Given the description of an element on the screen output the (x, y) to click on. 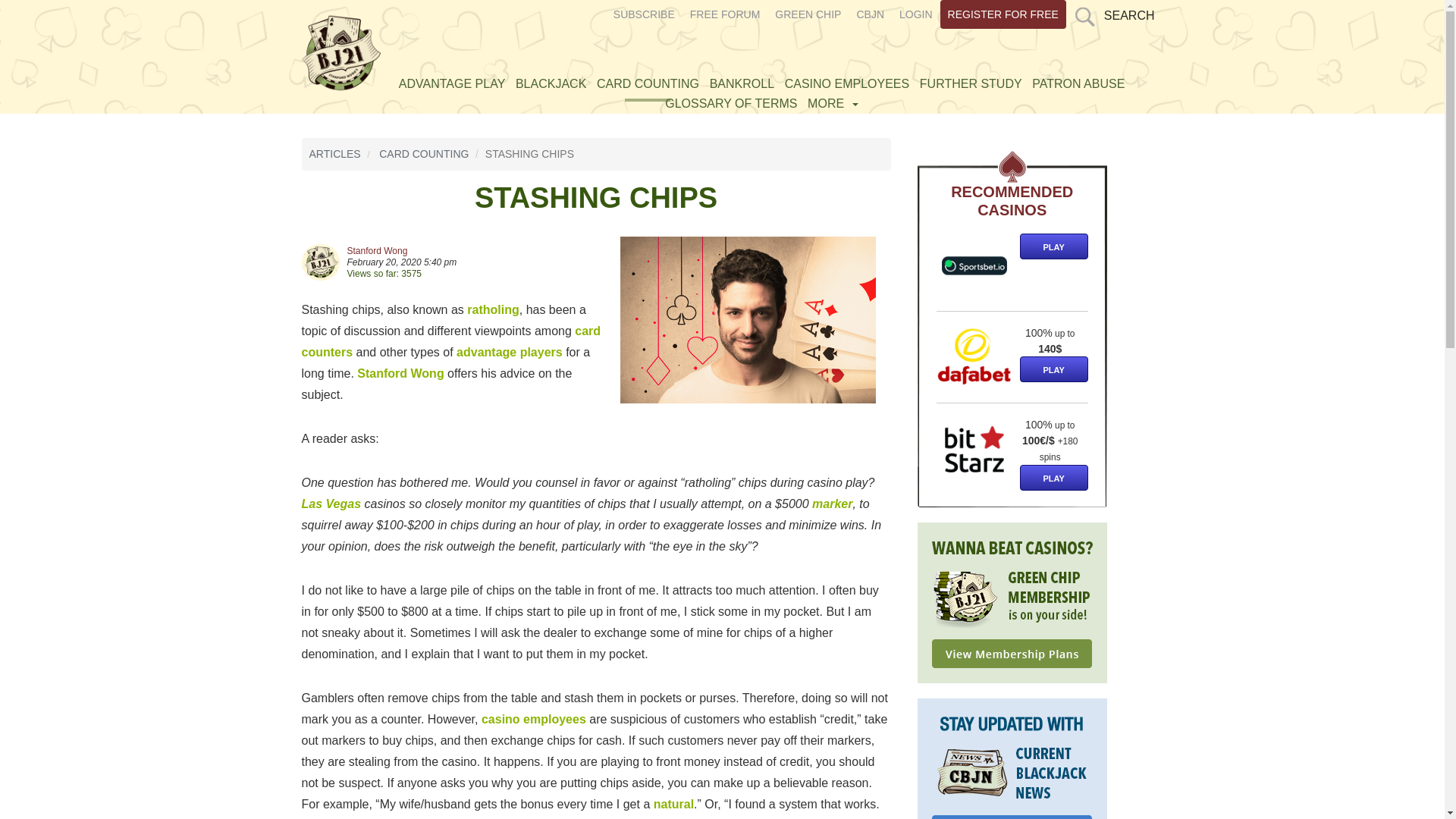
REGISTER FOR FREE (1002, 14)
CBJN (869, 14)
BANKROLL (741, 83)
GREEN CHIP (807, 14)
LOGIN (915, 14)
CARD COUNTING (647, 83)
ADVANTAGE PLAY (451, 83)
FREE FORUM (725, 14)
BLACKJACK (550, 83)
CASINO EMPLOYEES (847, 83)
